Given the description of an element on the screen output the (x, y) to click on. 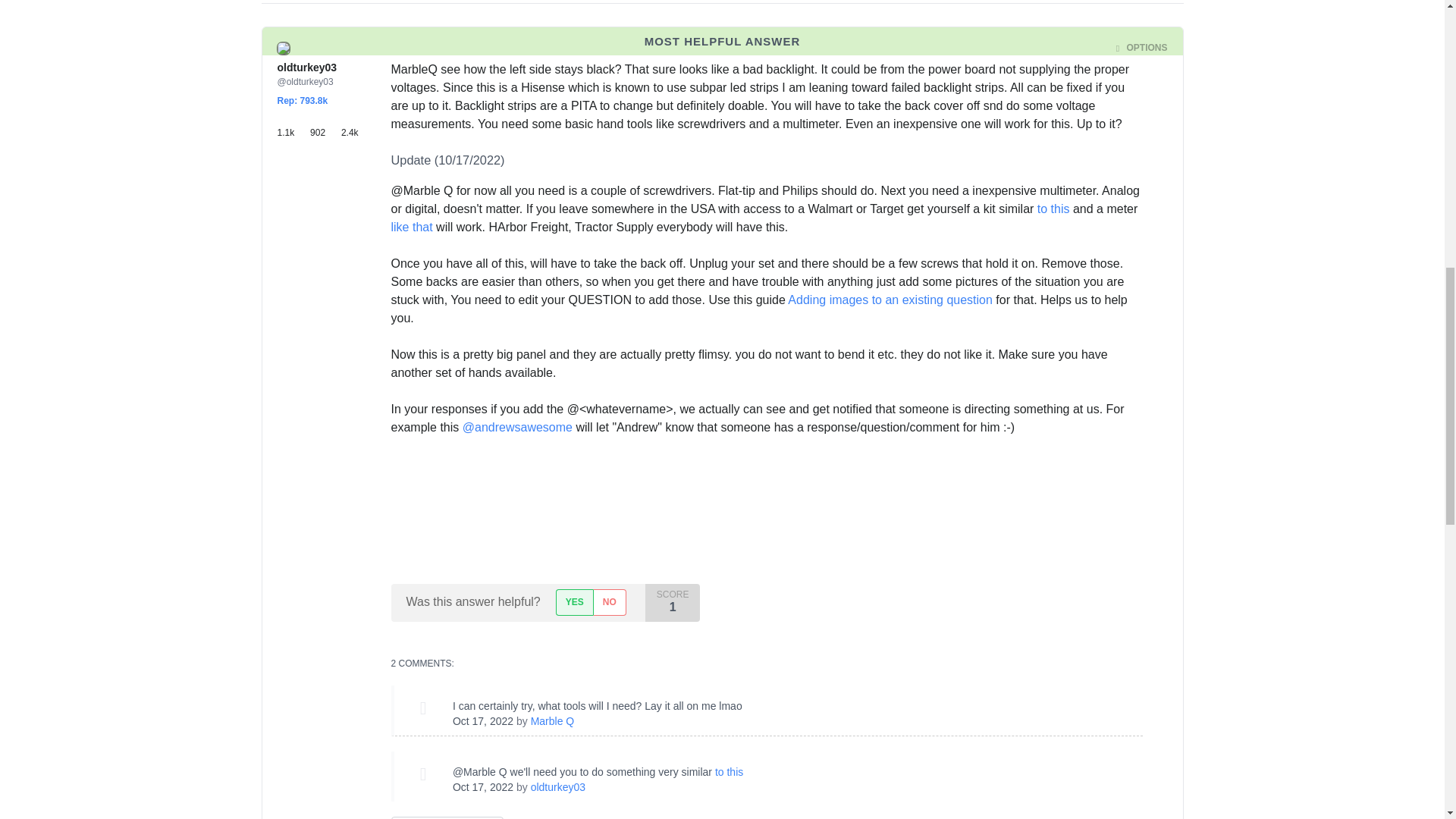
902 Silver badges (325, 126)
Sun, 16 Oct 2022 18:06:09 -0700 (461, 48)
Mon, 17 Oct 2022 18:13:32 -0700 (482, 787)
2406 Gold badges (354, 126)
1169 Bronze badges (294, 126)
Mon, 17 Oct 2022 15:46:15 -0700 (482, 720)
